Given the description of an element on the screen output the (x, y) to click on. 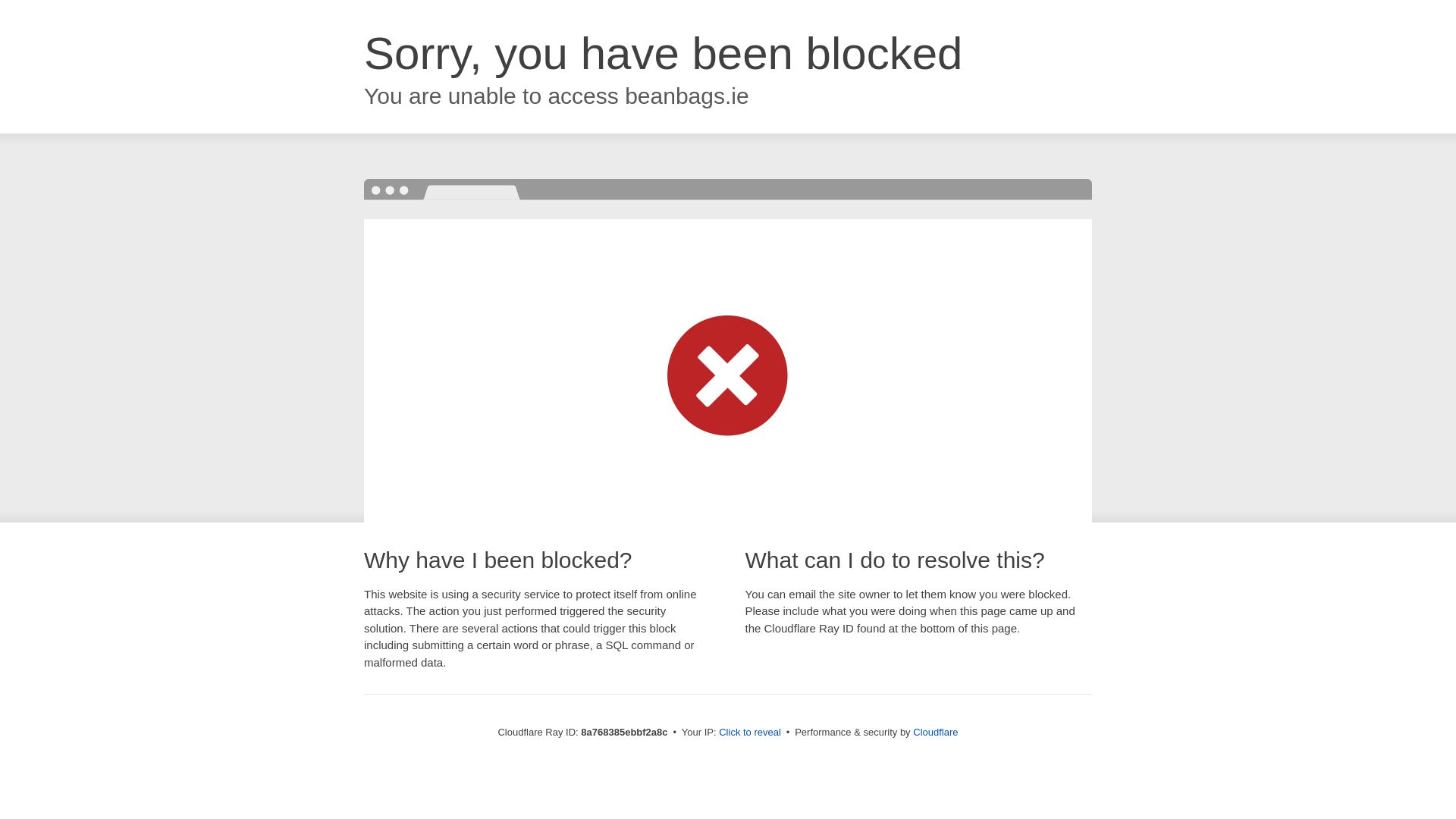
Cloudflare (935, 731)
Click to reveal (749, 732)
